Given the description of an element on the screen output the (x, y) to click on. 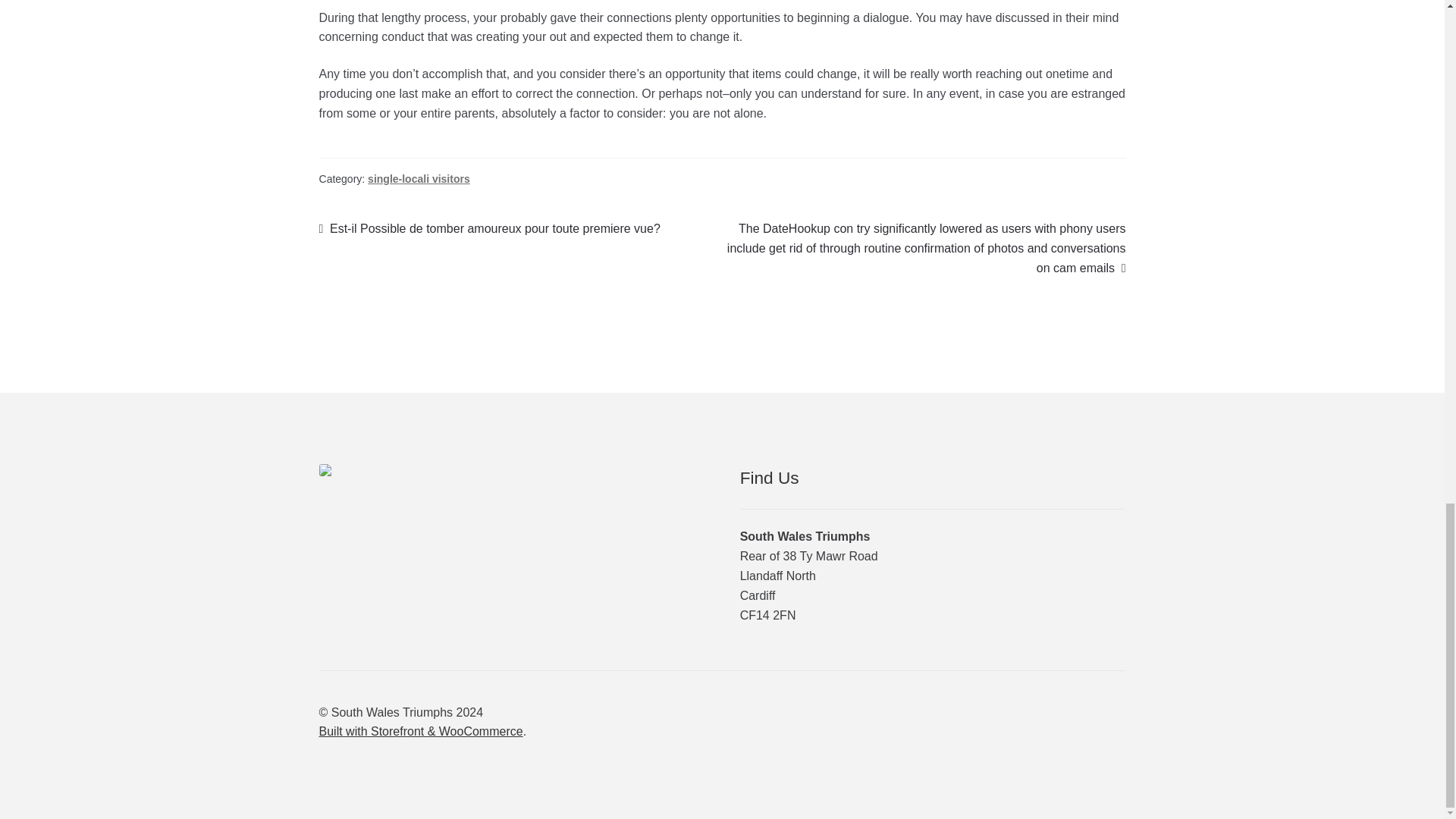
single-locali visitors (419, 178)
WooCommerce - The Best eCommerce Platform for WordPress (420, 730)
